Given the description of an element on the screen output the (x, y) to click on. 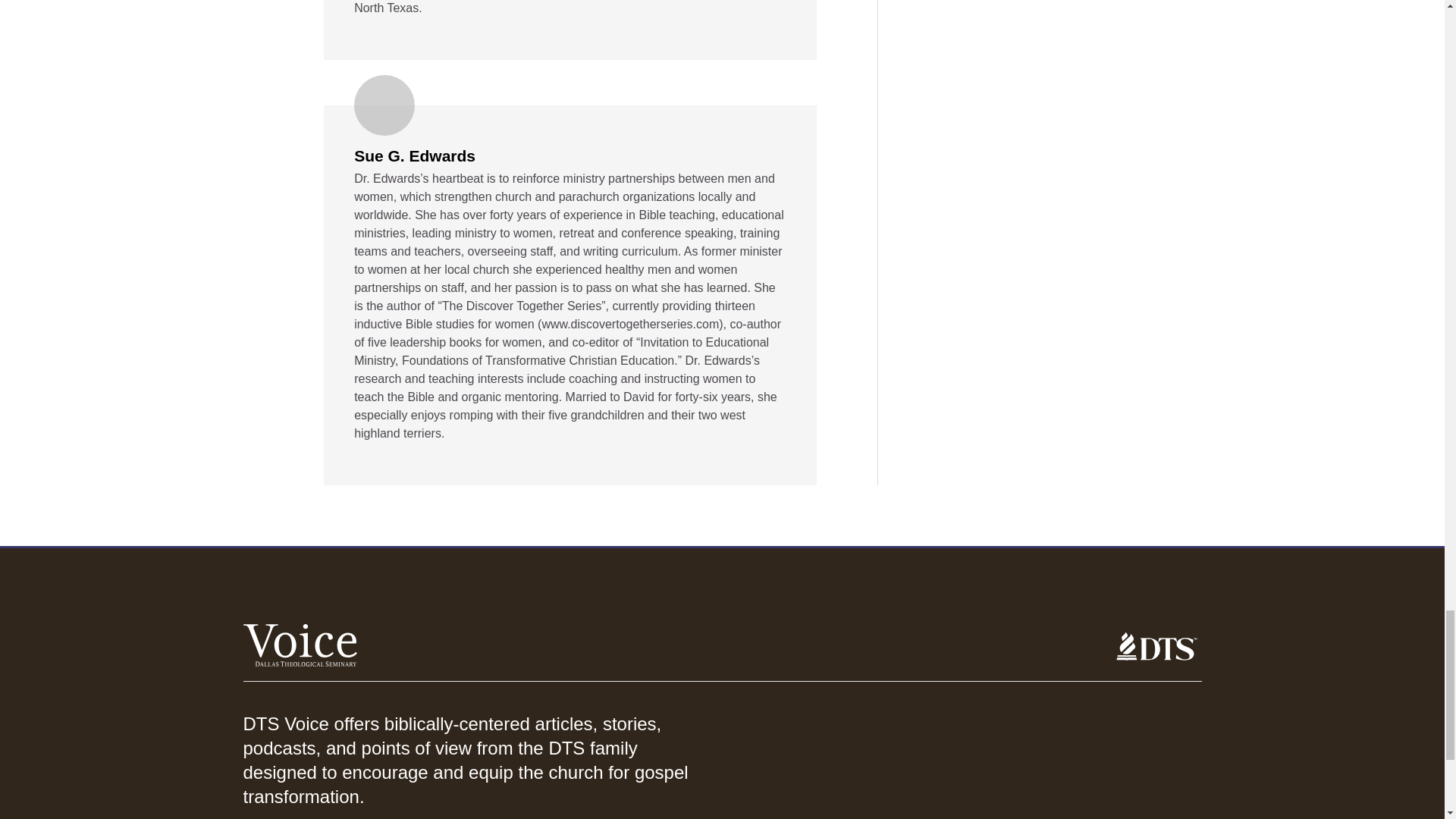
Sue G. Edwards (414, 156)
